Given the description of an element on the screen output the (x, y) to click on. 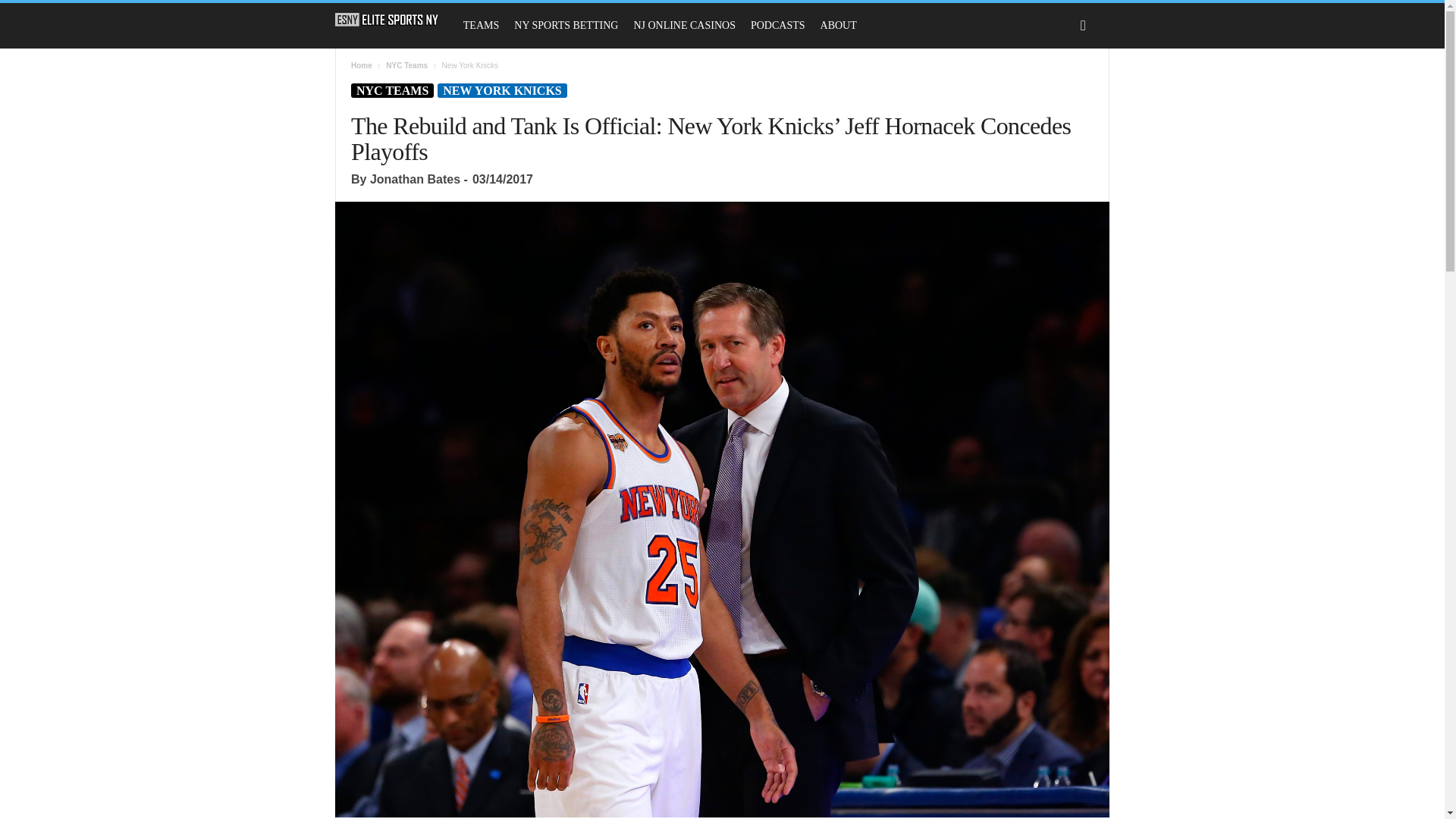
Elite Sports NY (386, 19)
Elite Sports NY (394, 19)
View all posts in NYC Teams (406, 65)
TEAMS (480, 25)
